Given the description of an element on the screen output the (x, y) to click on. 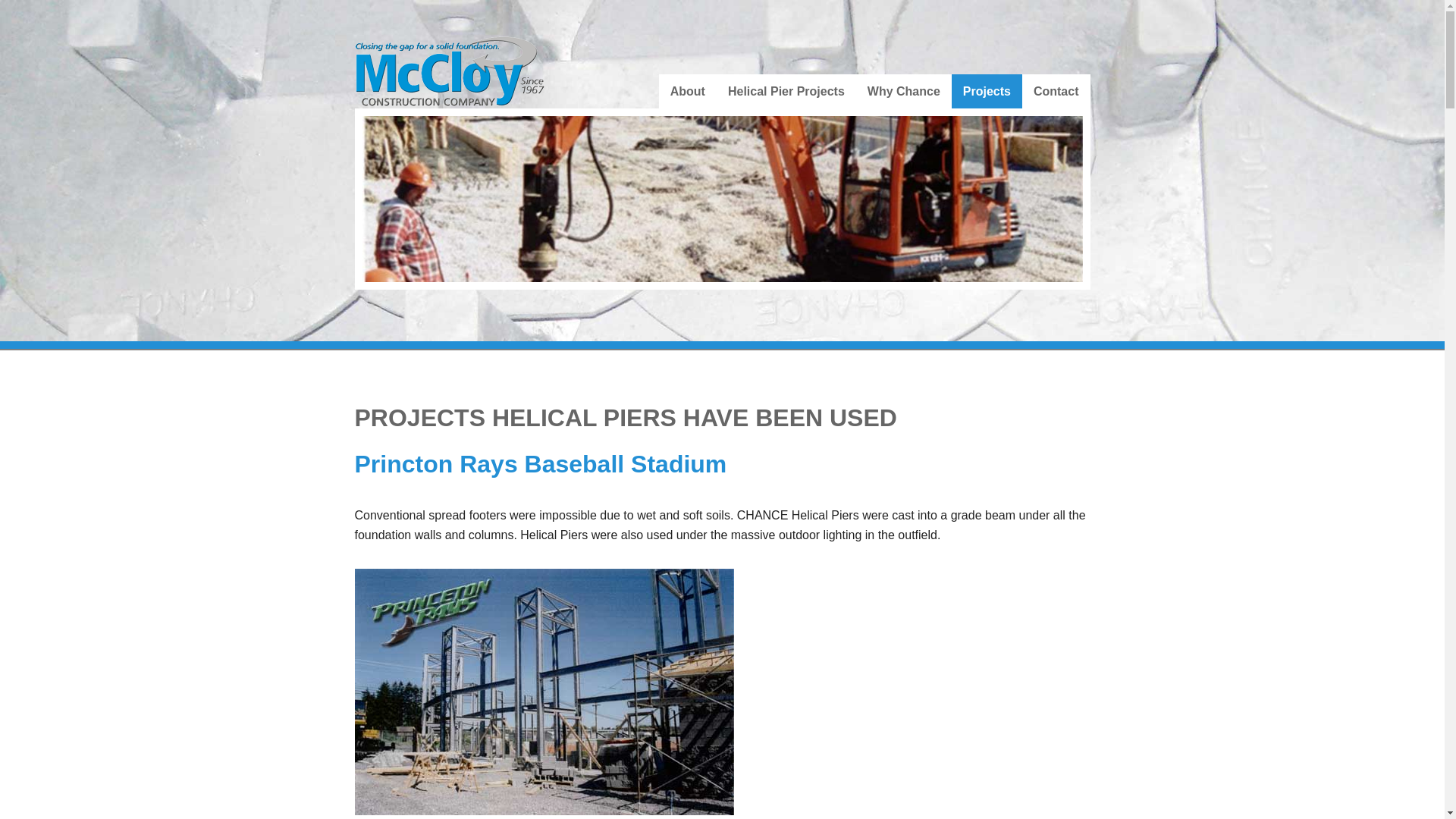
Contact (1056, 91)
Home (449, 69)
About (687, 91)
Projects (987, 91)
Why Chance (904, 91)
Helical Pier Projects (786, 91)
